Given the description of an element on the screen output the (x, y) to click on. 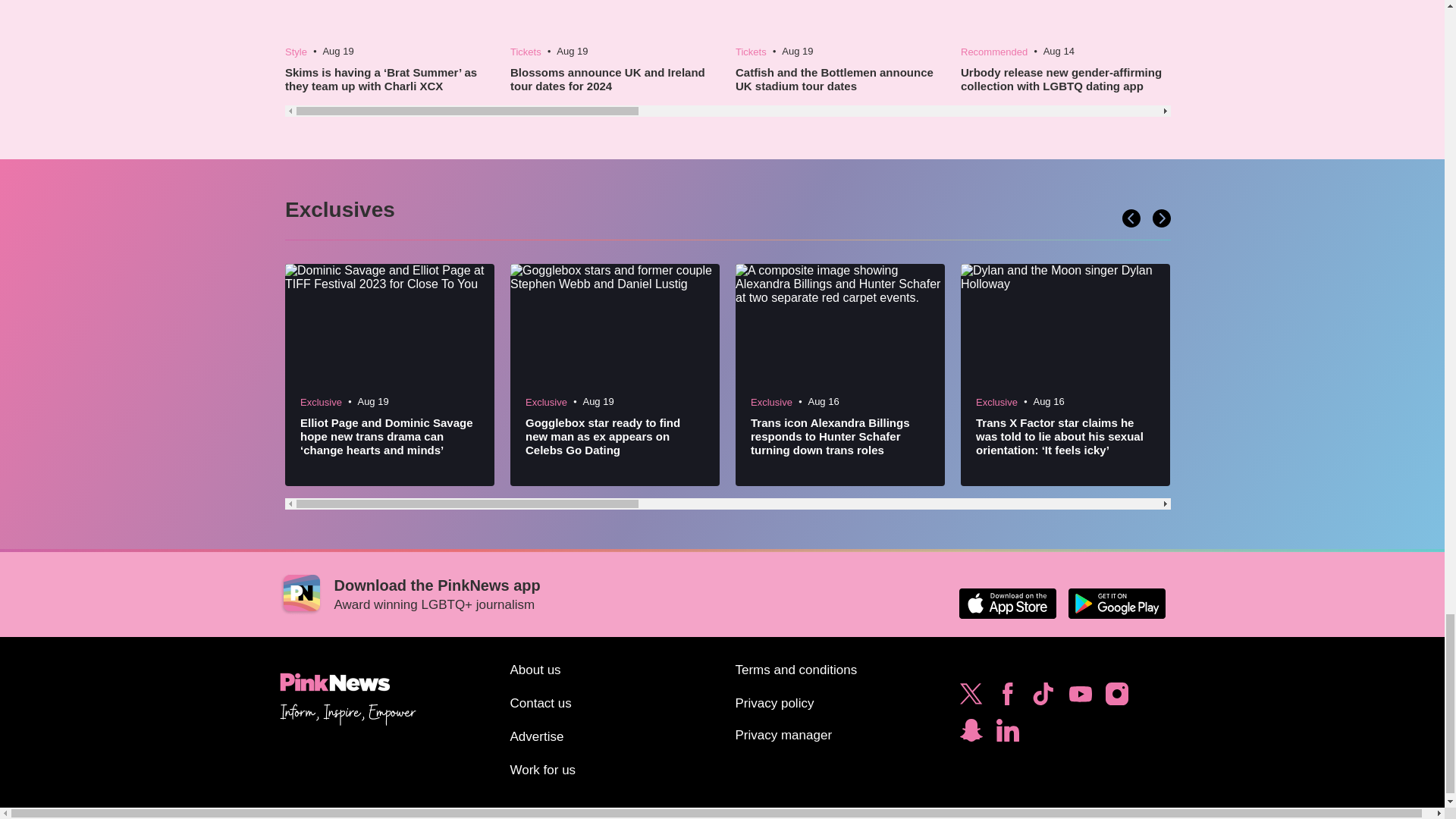
Follow PinkNews on Twitter (970, 697)
Follow PinkNews on LinkedIn (1007, 733)
Subscribe to PinkNews on YouTube (1079, 697)
Subscribe to PinkNews on Snapchat (970, 733)
Follow PinkNews on TikTok (1042, 697)
Download the PinkNews app on the Apple App Store (1006, 603)
Download the PinkNews app on Google Play (1115, 603)
Follow PinkNews on Instagram (1116, 697)
